Given the description of an element on the screen output the (x, y) to click on. 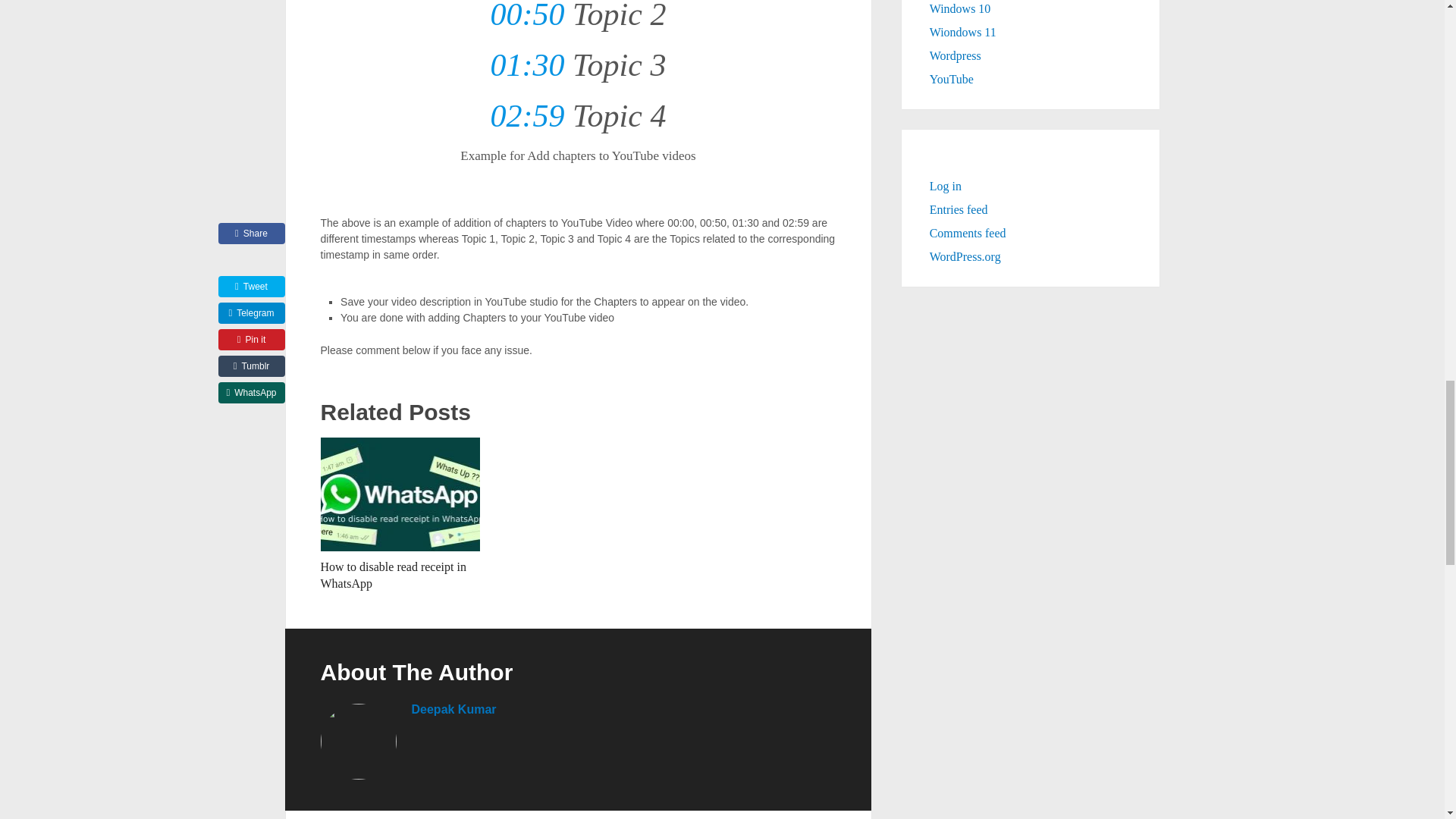
How to disable read receipt in WhatsApp (392, 574)
How to disable read receipt in WhatsApp (400, 494)
